Given the description of an element on the screen output the (x, y) to click on. 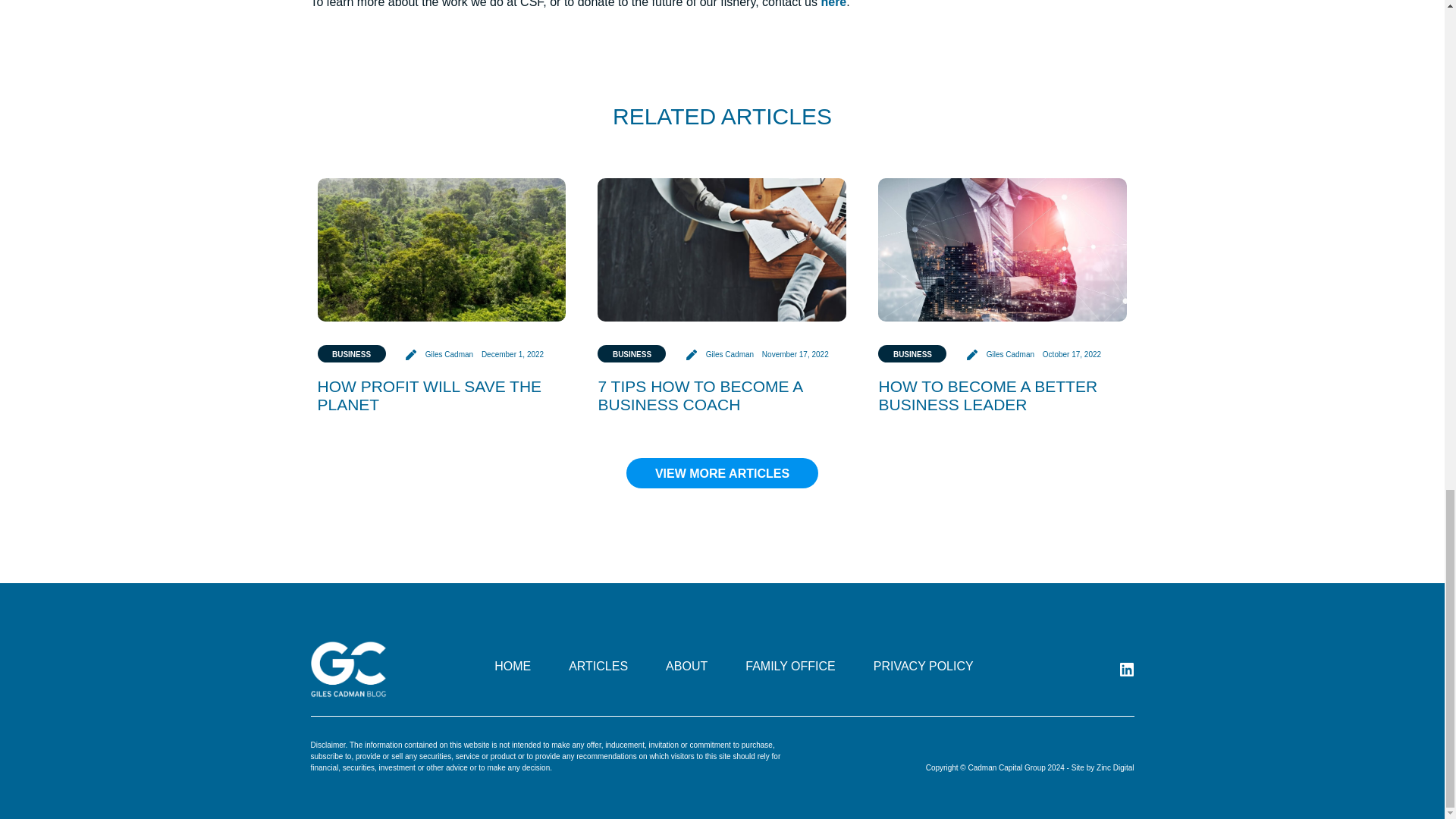
here (833, 4)
BUSINESS (911, 353)
ABOUT (686, 666)
Giles Cadman (720, 354)
7 TIPS HOW TO BECOME A BUSINESS COACH (699, 395)
HOW TO BECOME A BETTER BUSINESS LEADER (987, 395)
VIEW MORE ARTICLES (722, 472)
Giles Cadman (1001, 354)
BUSINESS (630, 353)
PRIVACY POLICY (923, 666)
BUSINESS (351, 353)
HOME (513, 666)
FAMILY OFFICE (790, 666)
Giles Cadman (441, 354)
ARTICLES (598, 666)
